Given the description of an element on the screen output the (x, y) to click on. 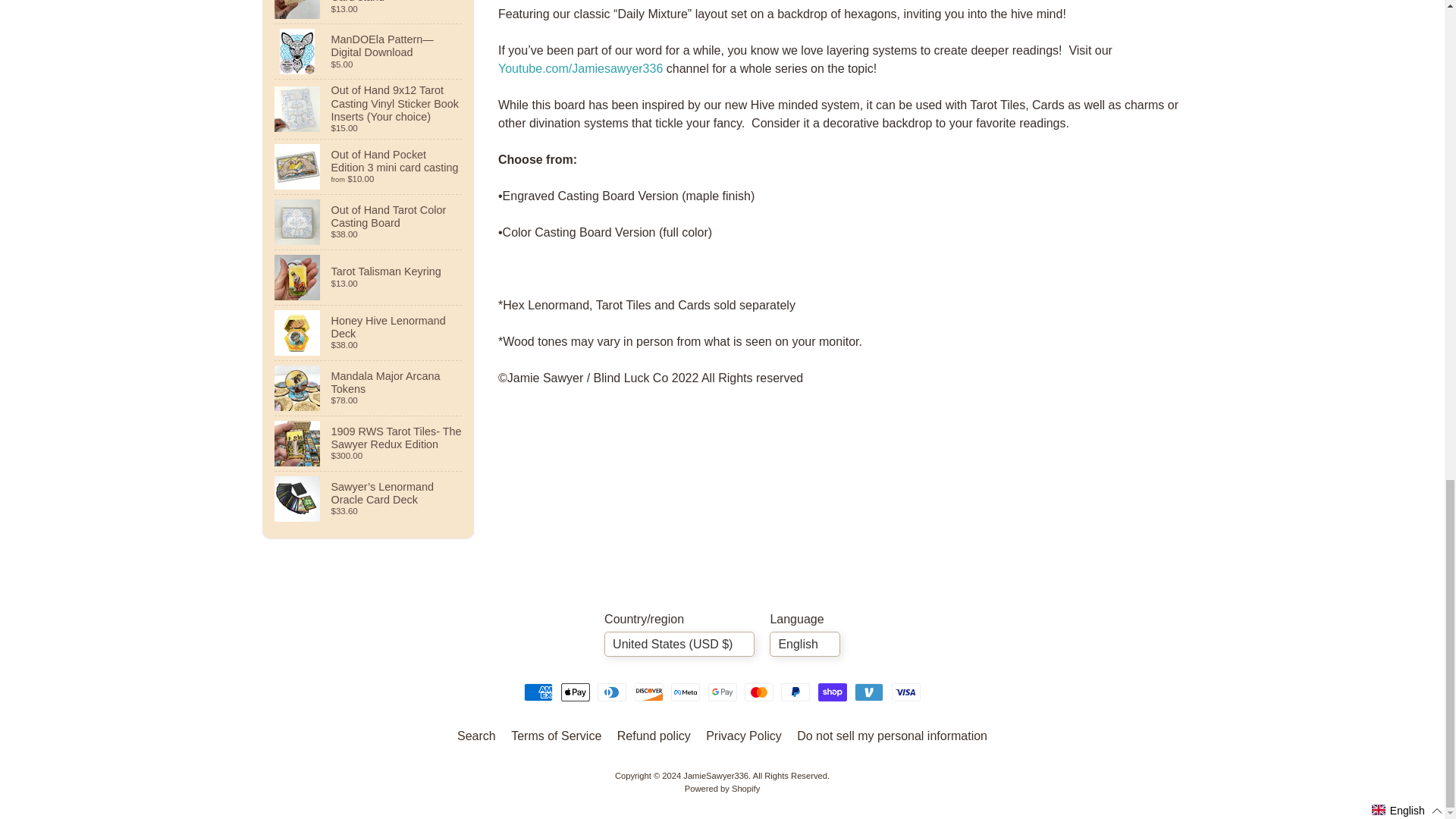
Shop Pay (832, 692)
Out of Hand Pocket Edition 3 mini card casting (369, 166)
Google Pay (721, 692)
Apple Pay (574, 692)
PayPal (794, 692)
Meta Pay (685, 692)
1909 RWS Tarot Tiles- The Sawyer Redux Edition (369, 443)
Out of Hand Tarot Pocket Card stand (369, 11)
Out of Hand Tarot Color Casting Board (369, 221)
Mandala Major Arcana Tokens (369, 388)
Honey Hive Lenormand Deck (369, 332)
Diners Club (611, 692)
Discover (648, 692)
American Express (538, 692)
Tarot Talisman Keyring (369, 277)
